Given the description of an element on the screen output the (x, y) to click on. 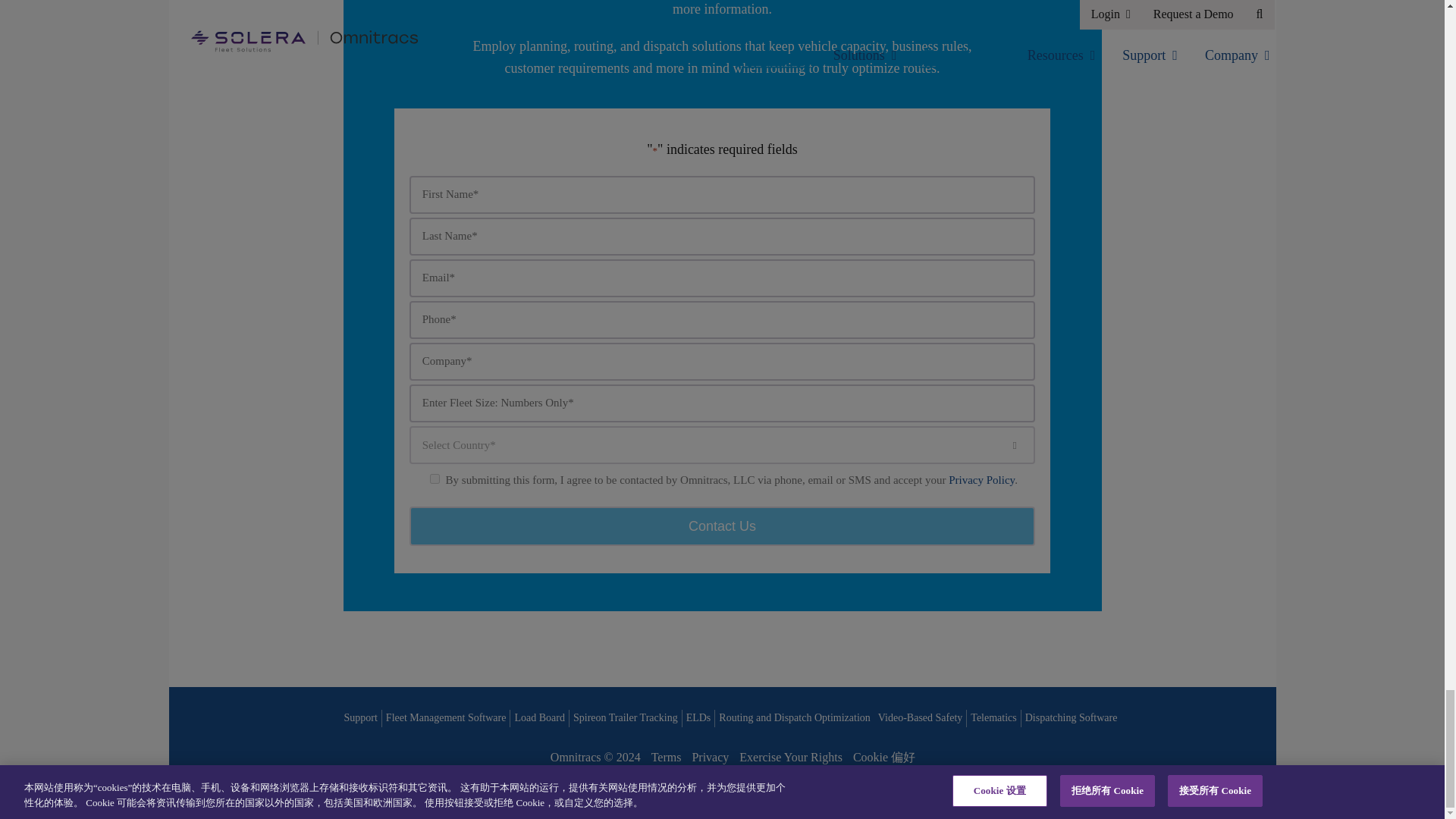
Contact Us (722, 526)
